Given the description of an element on the screen output the (x, y) to click on. 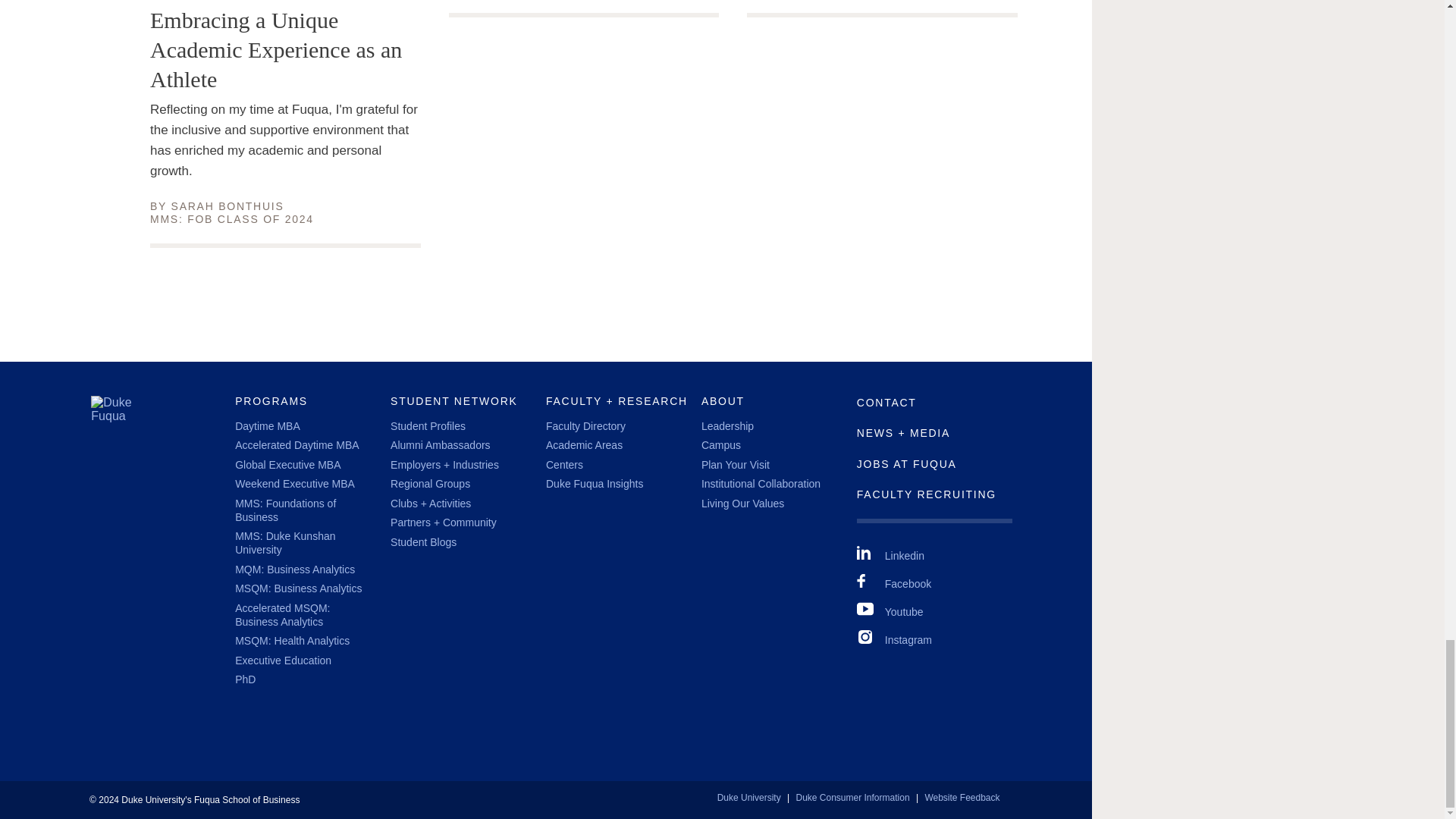
MMS: Foundations of Business (285, 510)
MMS: Duke Kunshan University (284, 542)
PhD (245, 679)
Global Executive MBA (287, 464)
Accelerated MSQM: Business Analytics (282, 614)
Executive Education (282, 660)
Embracing a Unique Academic Experience as an Athlete (284, 49)
Weekend Executive MBA (294, 483)
MSQM: Health Analytics (291, 640)
Daytime MBA (266, 426)
